Given the description of an element on the screen output the (x, y) to click on. 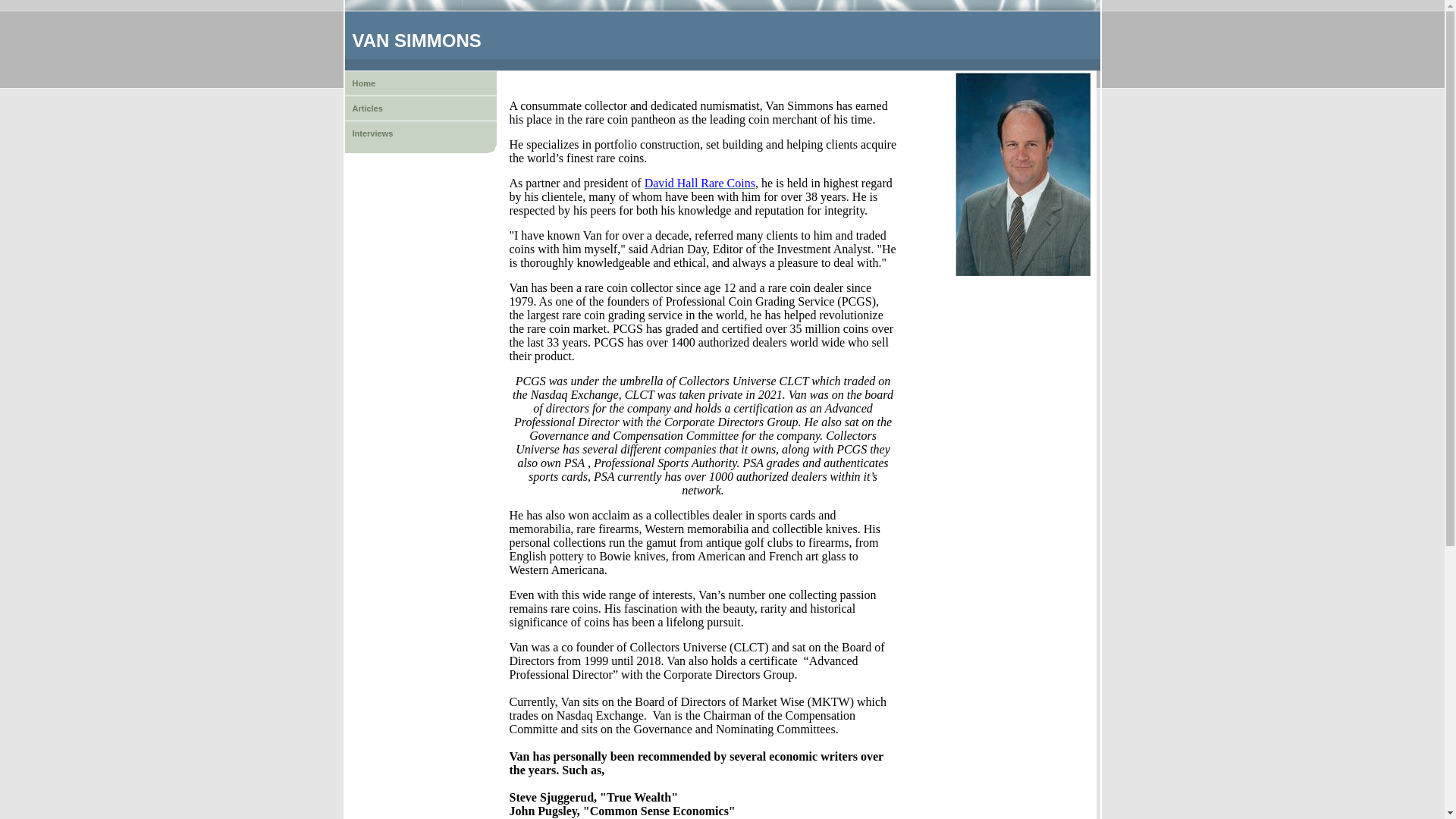
Home (419, 82)
David Hall Rare Coins (700, 182)
Articles (419, 107)
Interviews (419, 132)
